Given the description of an element on the screen output the (x, y) to click on. 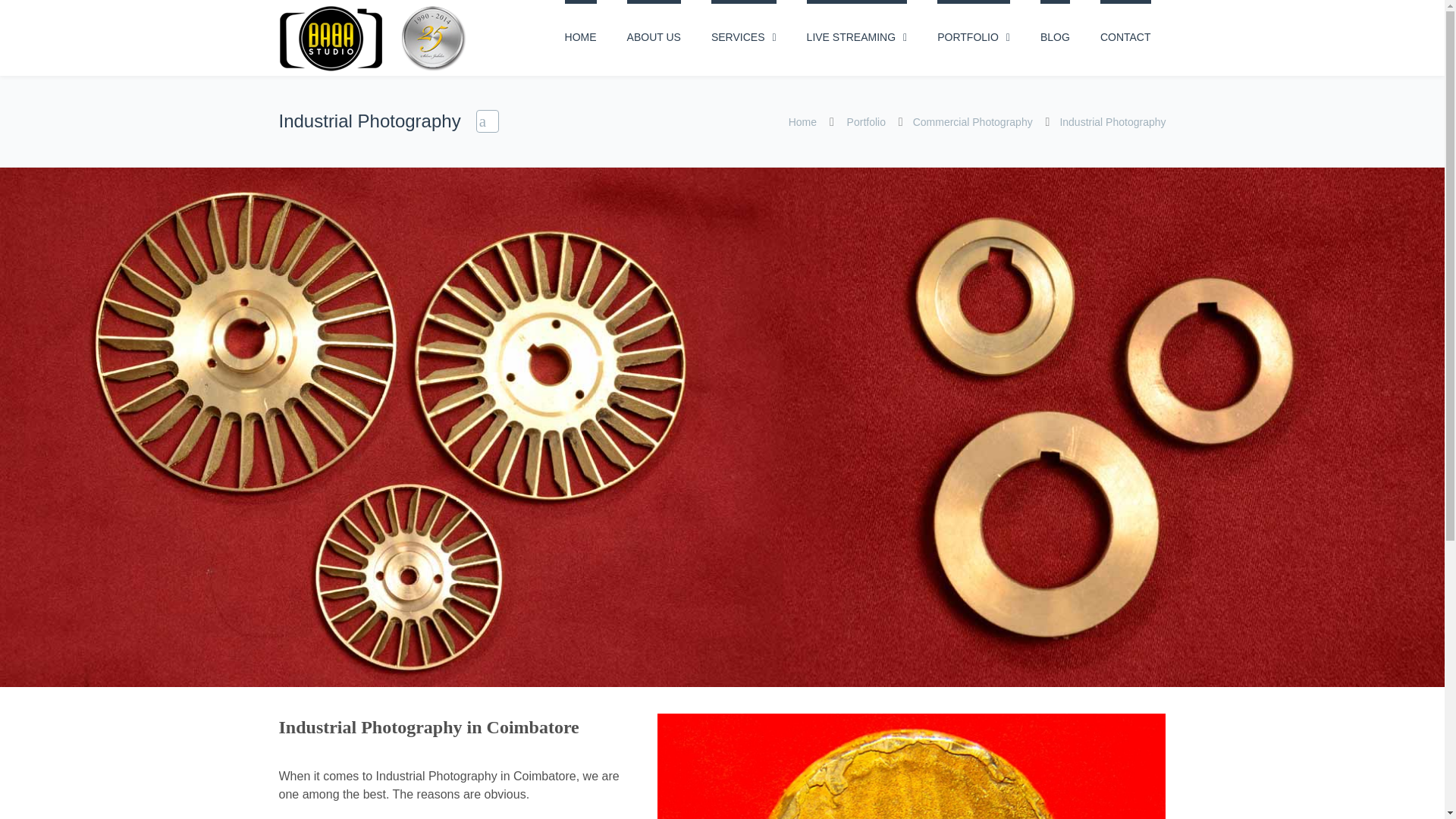
Wedding Photographers in Coimbatore, Baba Studio (373, 38)
PORTFOLIO (973, 38)
LIVE STREAMING (856, 38)
